Given the description of an element on the screen output the (x, y) to click on. 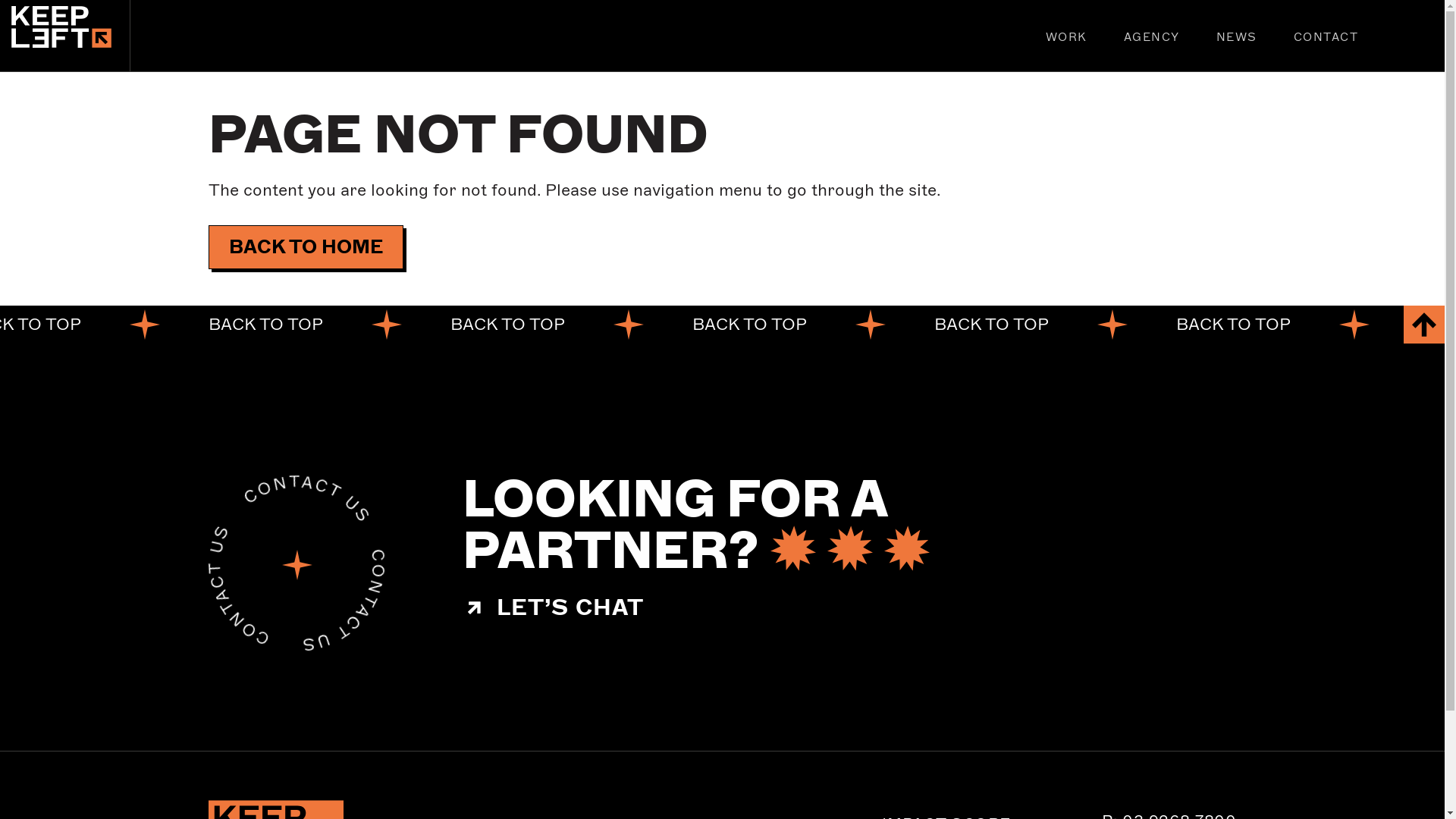
WORK Element type: text (1065, 37)
Back to home Element type: hover (70, 35)
AGENCY Element type: text (1151, 37)
NEWS Element type: text (1236, 37)
CONTACT Element type: text (1325, 37)
BACK TO HOME Element type: text (304, 247)
